Given the description of an element on the screen output the (x, y) to click on. 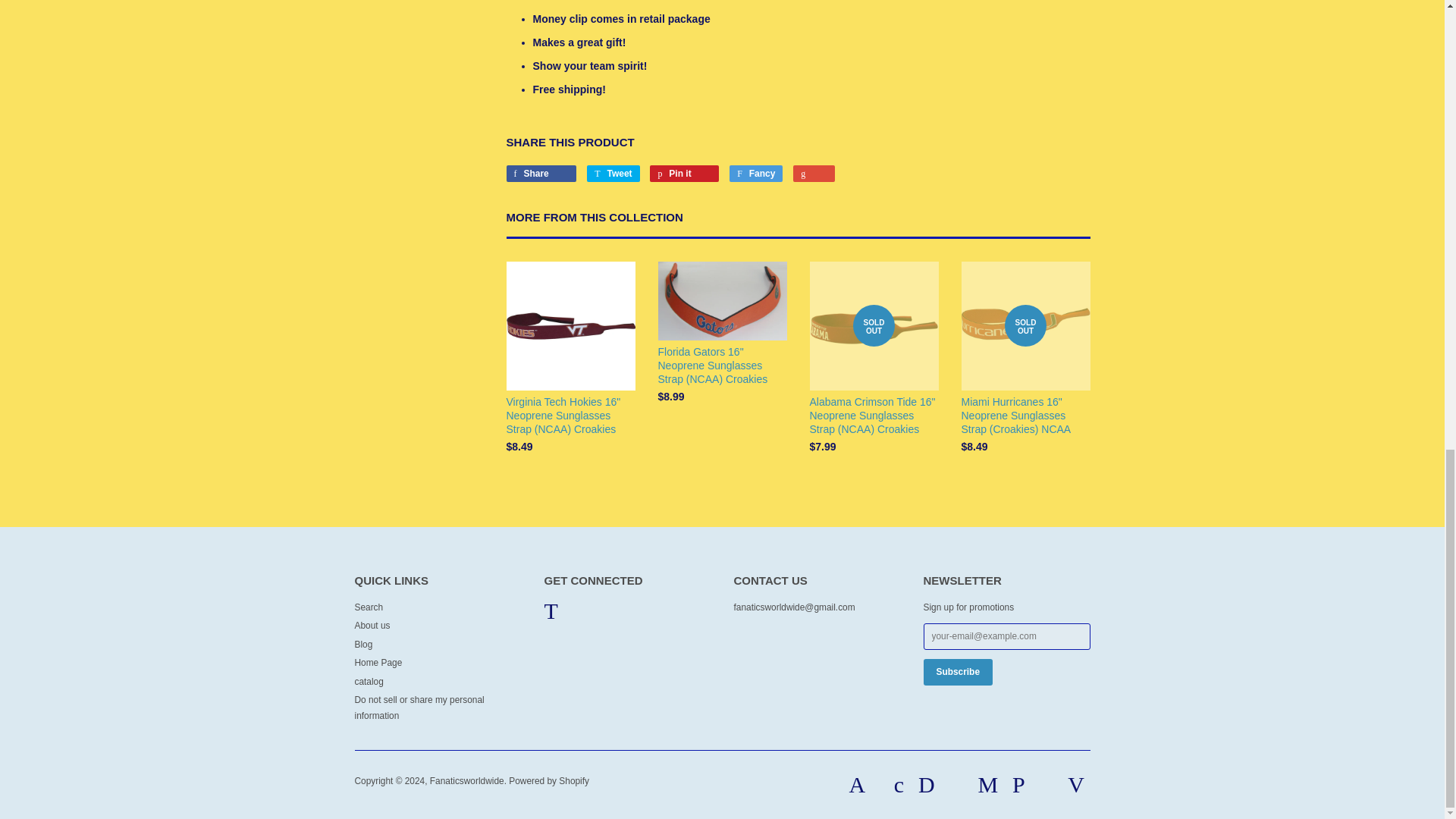
Subscribe (957, 672)
Fanaticsworldwide on Twitter (550, 615)
